Given the description of an element on the screen output the (x, y) to click on. 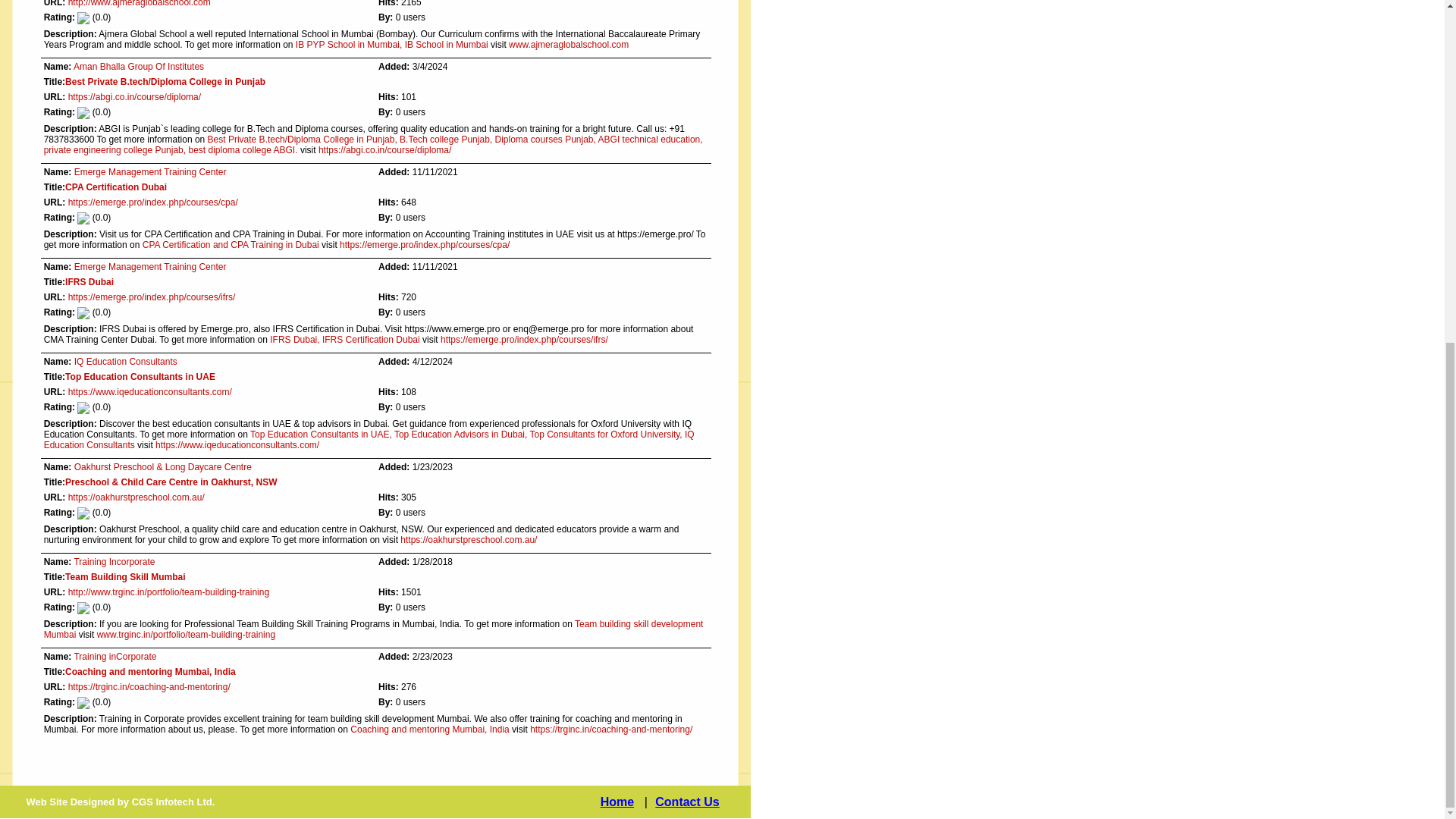
IFRS Dubai, IFRS Certification Dubai (344, 339)
Aman Bhalla Group Of Institutes (138, 66)
Emerge Management Training Center (150, 266)
www.ajmeraglobalschool.com (568, 44)
IQ Education Consultants (125, 361)
IFRS Dubai (89, 281)
Top Education Consultants in UAE (140, 376)
IB PYP School in Mumbai, IB School in Mumbai (391, 44)
Emerge Management Training Center (150, 172)
CPA Certification Dubai (116, 186)
CPA Certification and CPA Training in Dubai (230, 244)
